Given the description of an element on the screen output the (x, y) to click on. 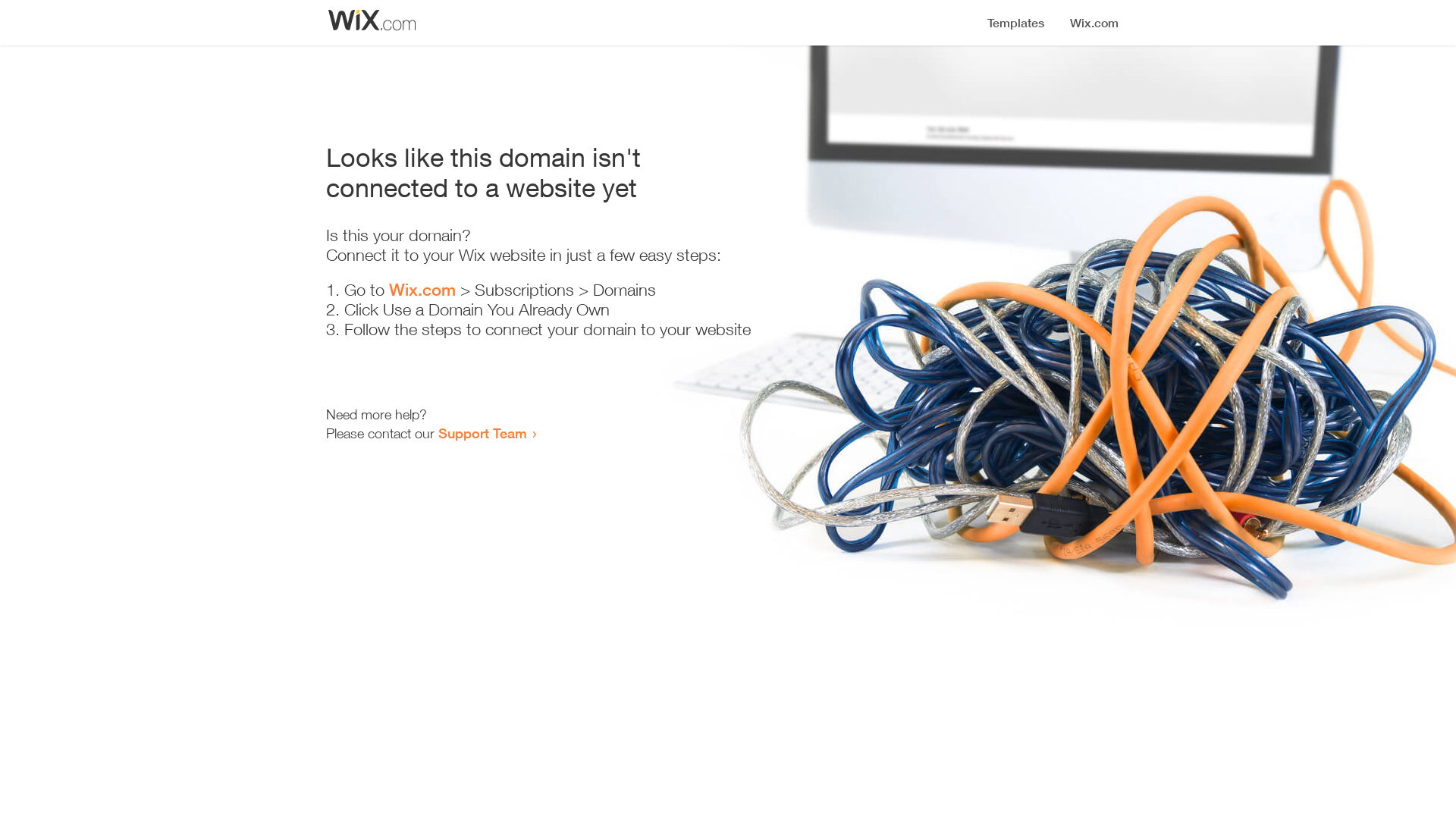
Support Team Element type: text (482, 432)
Wix.com Element type: text (422, 289)
